Given the description of an element on the screen output the (x, y) to click on. 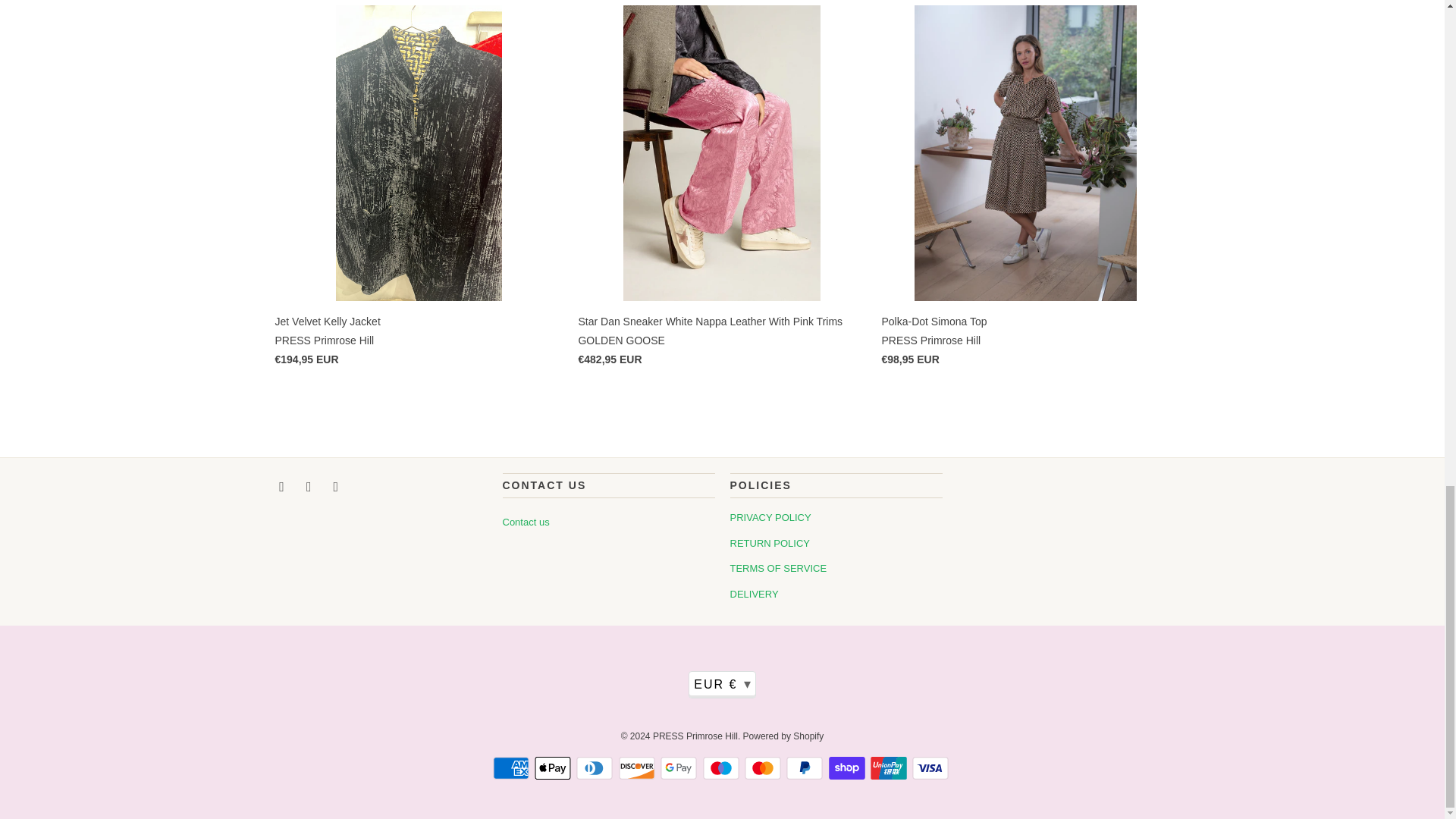
Discover (638, 767)
Maestro (721, 767)
Union Pay (890, 767)
Shop Pay (847, 767)
Mastercard (764, 767)
PayPal (805, 767)
Apple Pay (553, 767)
American Express (512, 767)
Google Pay (680, 767)
Visa (932, 767)
